Given the description of an element on the screen output the (x, y) to click on. 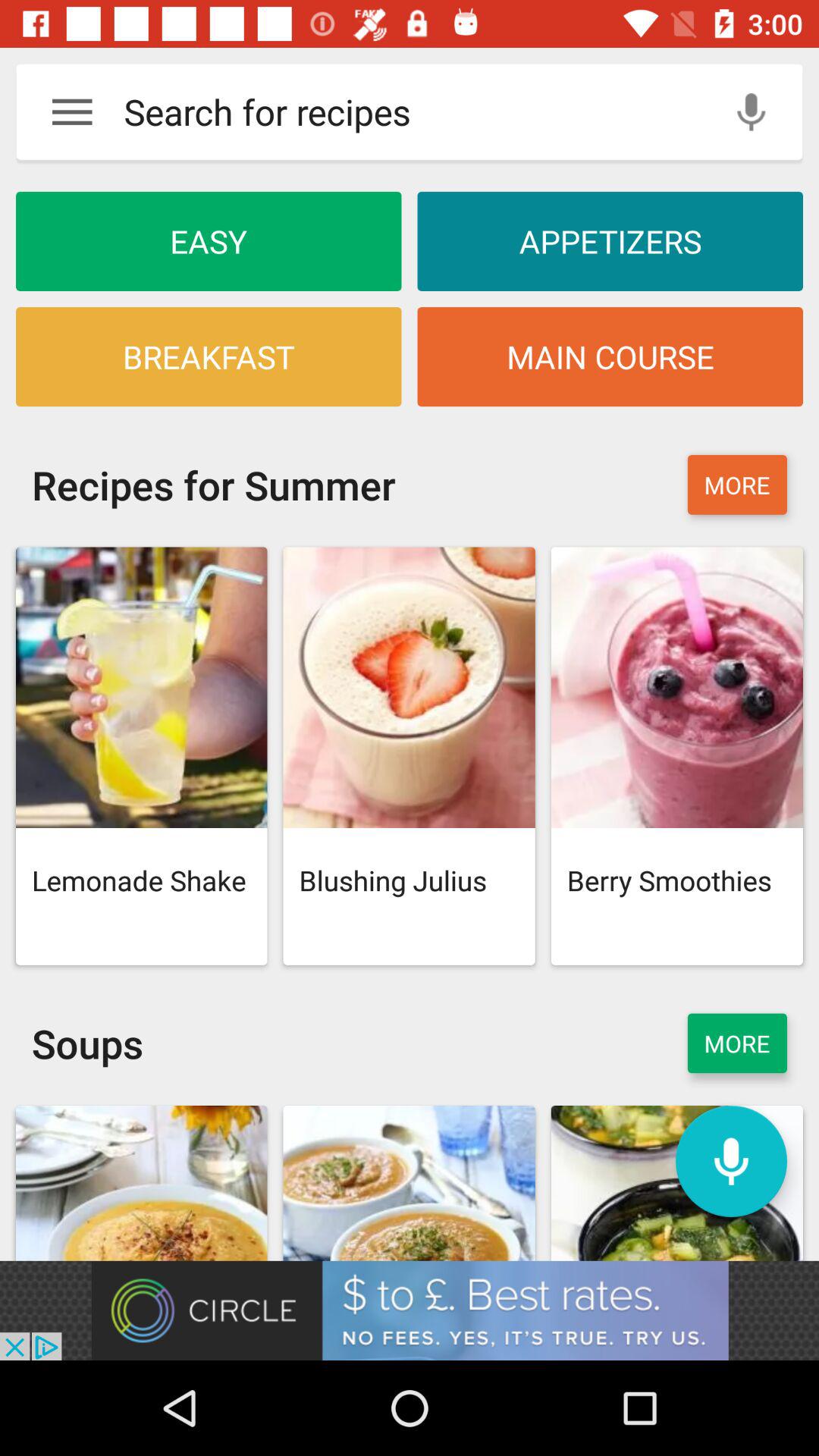
voice recording (751, 111)
